Given the description of an element on the screen output the (x, y) to click on. 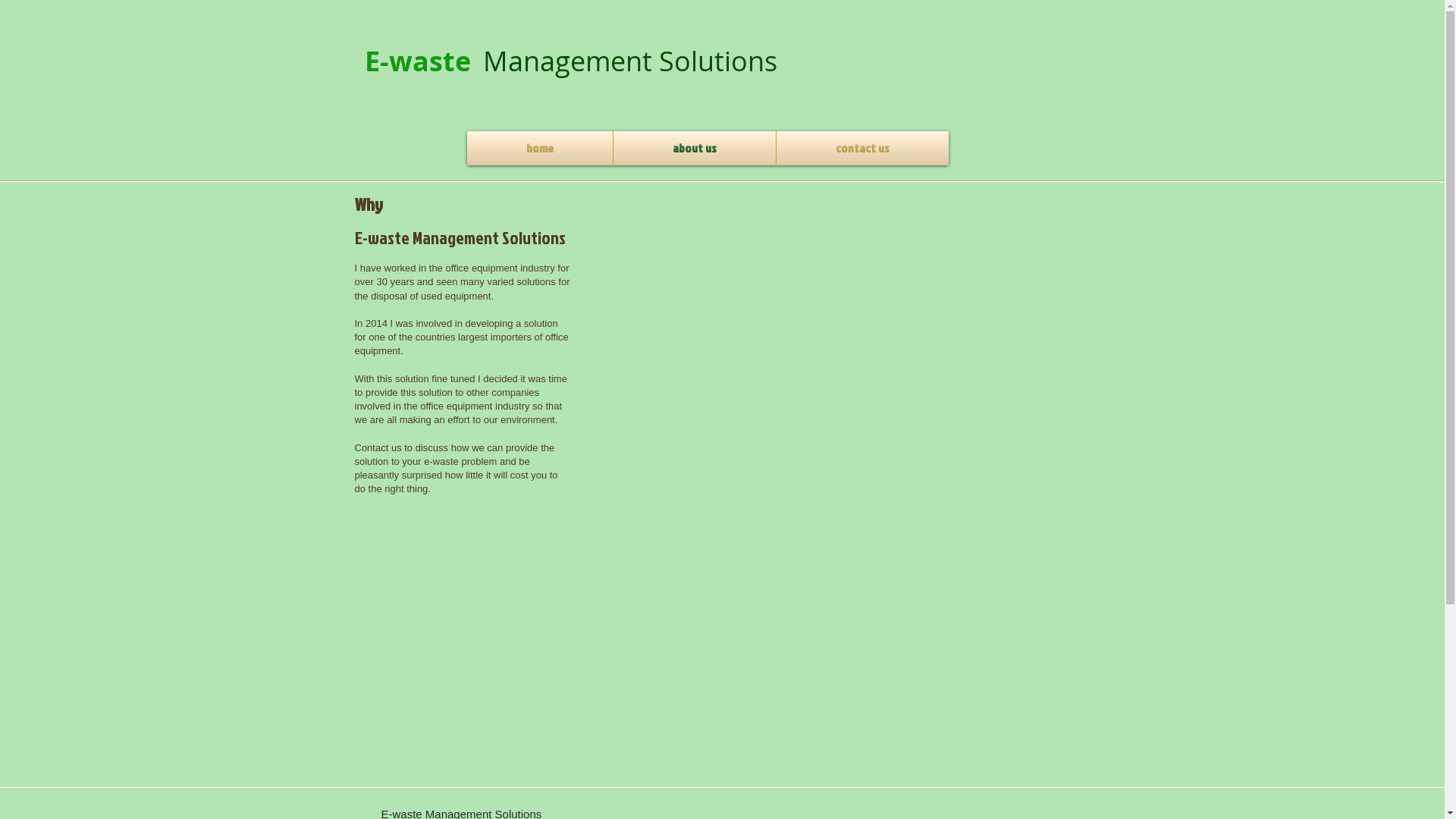
home Element type: text (539, 148)
contact us Element type: text (862, 148)
about us Element type: text (693, 148)
